Given the description of an element on the screen output the (x, y) to click on. 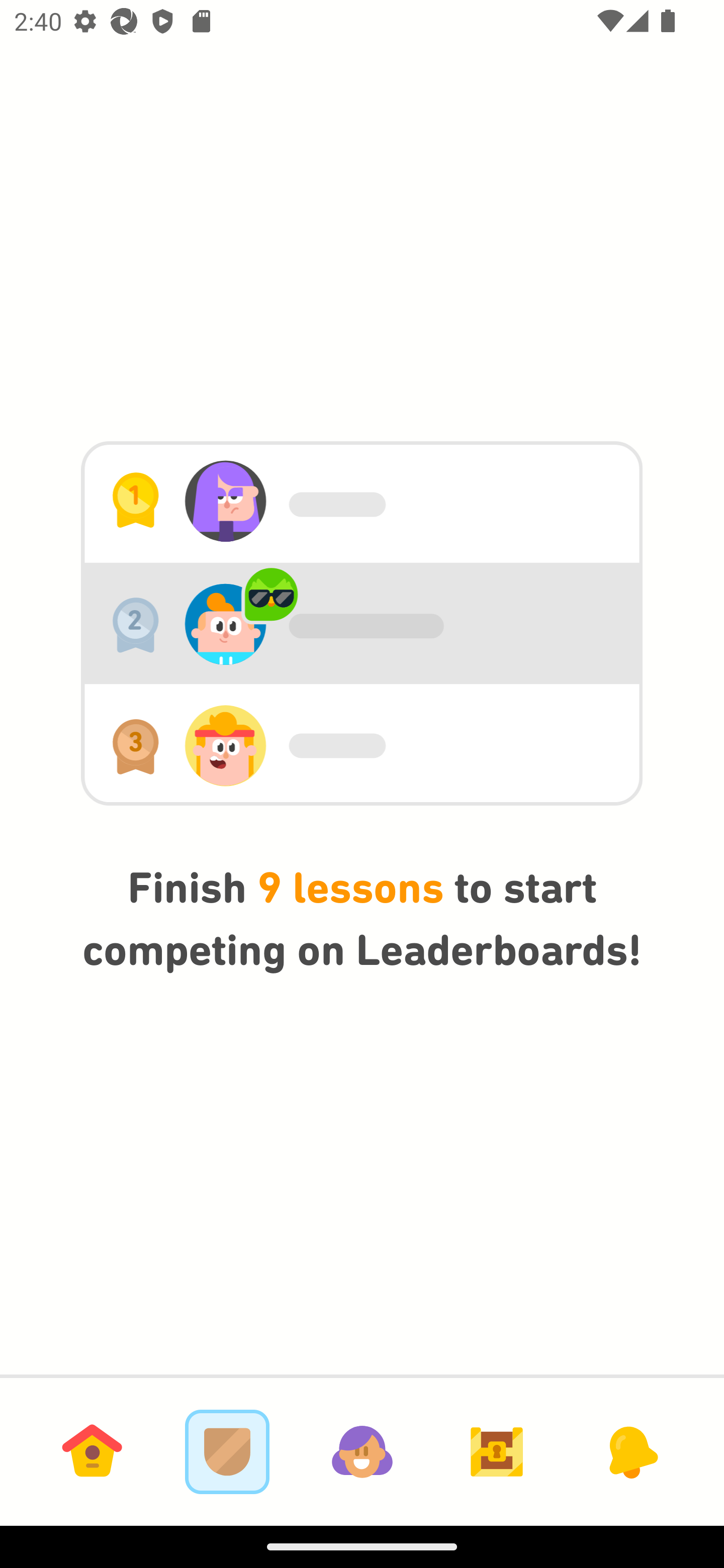
Learn Tab (91, 1451)
Leagues Tab (227, 1451)
Profile Tab (361, 1451)
Goals Tab (496, 1451)
News Tab (631, 1451)
